Given the description of an element on the screen output the (x, y) to click on. 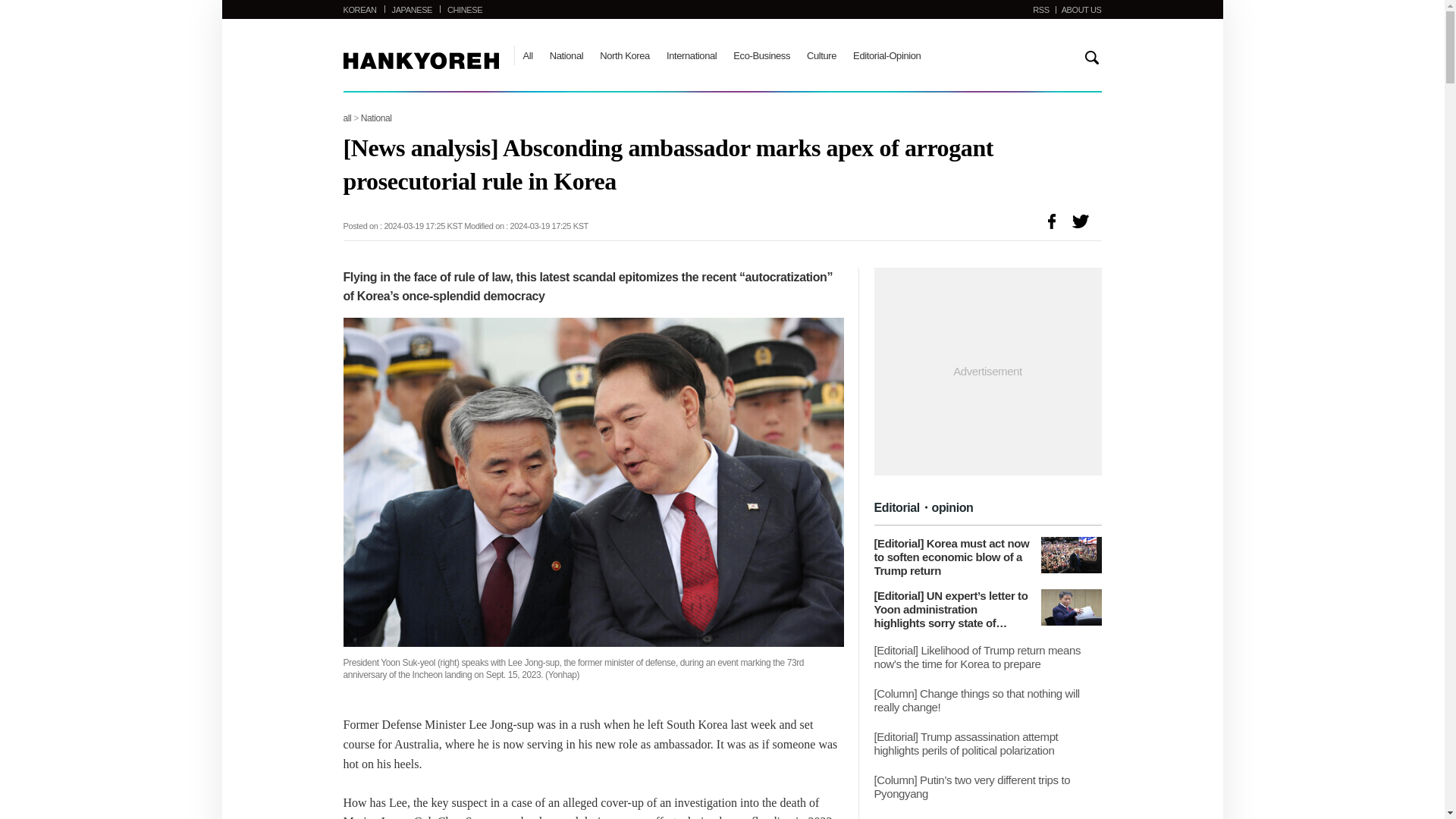
Advertisement (986, 371)
Culture (820, 55)
RSS (1040, 9)
CHINESE (463, 9)
Eco-Business (761, 55)
National (566, 55)
All (527, 55)
ABOUT US (1081, 9)
Editorial-Opinion (886, 55)
hankyoreh (419, 60)
all (346, 118)
National (376, 118)
JAPANESE (411, 9)
North Korea (624, 55)
International (691, 55)
